Given the description of an element on the screen output the (x, y) to click on. 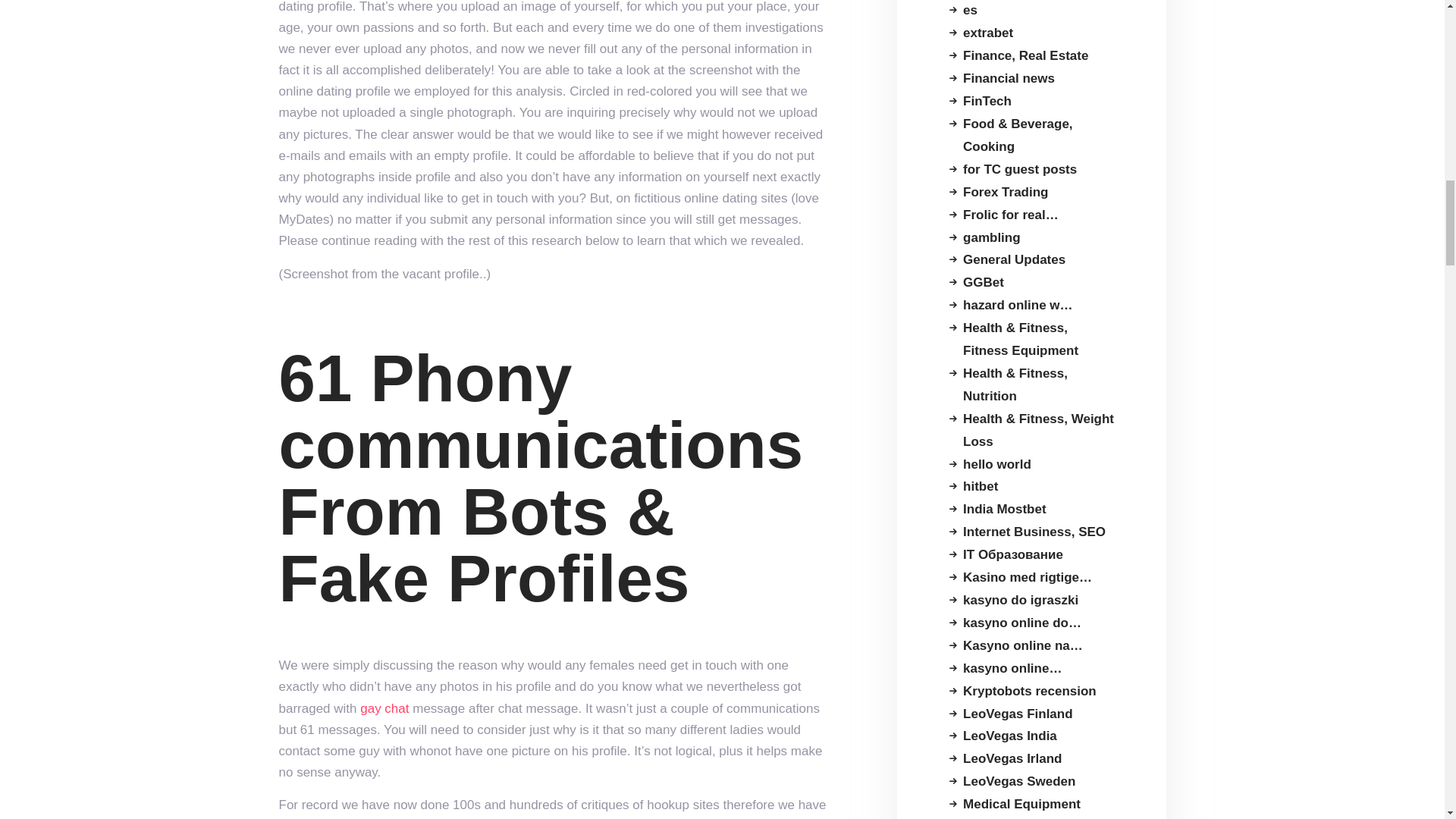
gay chat (384, 708)
